Given the description of an element on the screen output the (x, y) to click on. 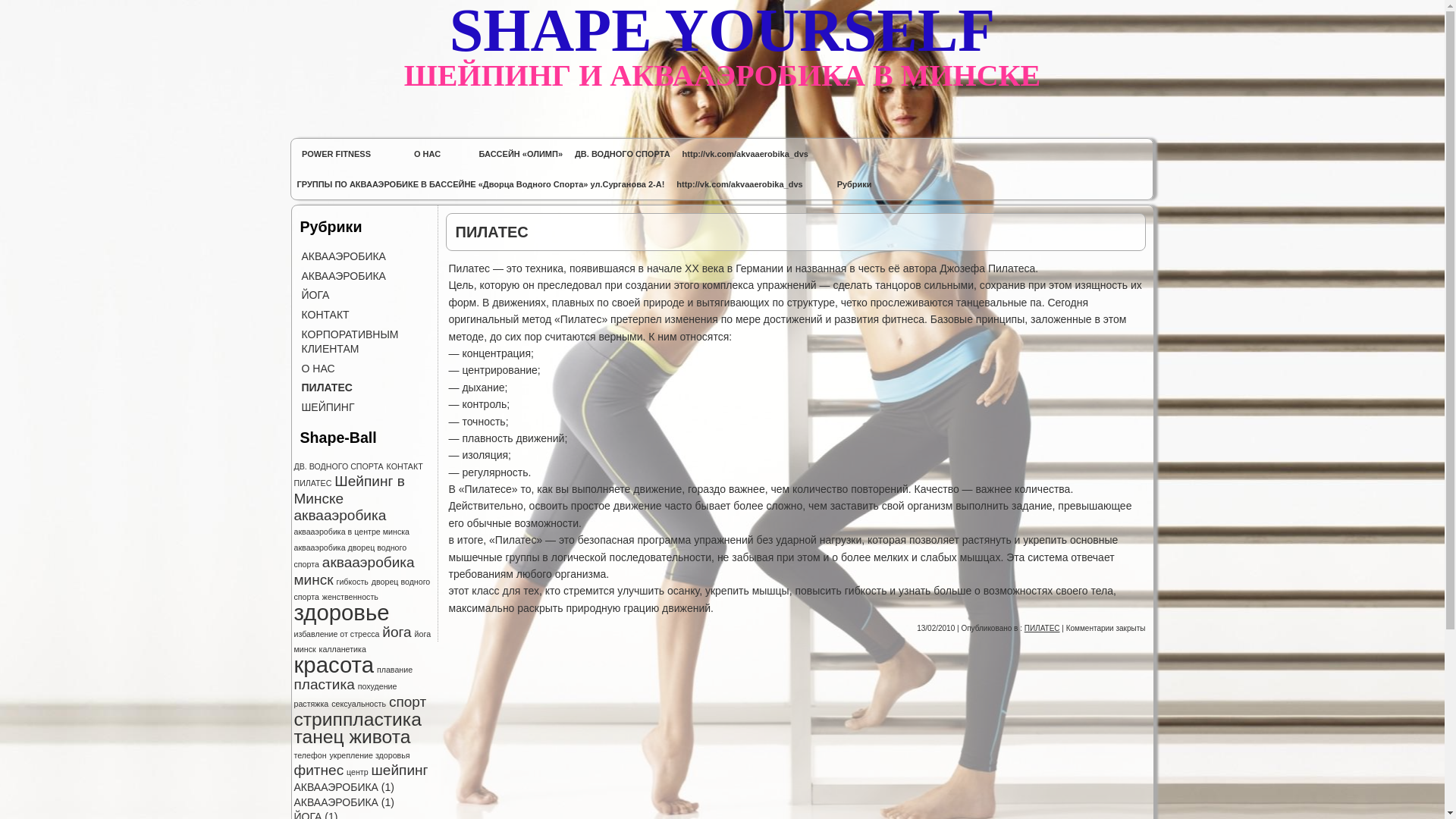
POWER FITNESS Element type: text (336, 153)
http://vk.com/akvaaerobika_dvs Element type: text (745, 153)
SHAPE YOURSELF Element type: text (721, 30)
